Given the description of an element on the screen output the (x, y) to click on. 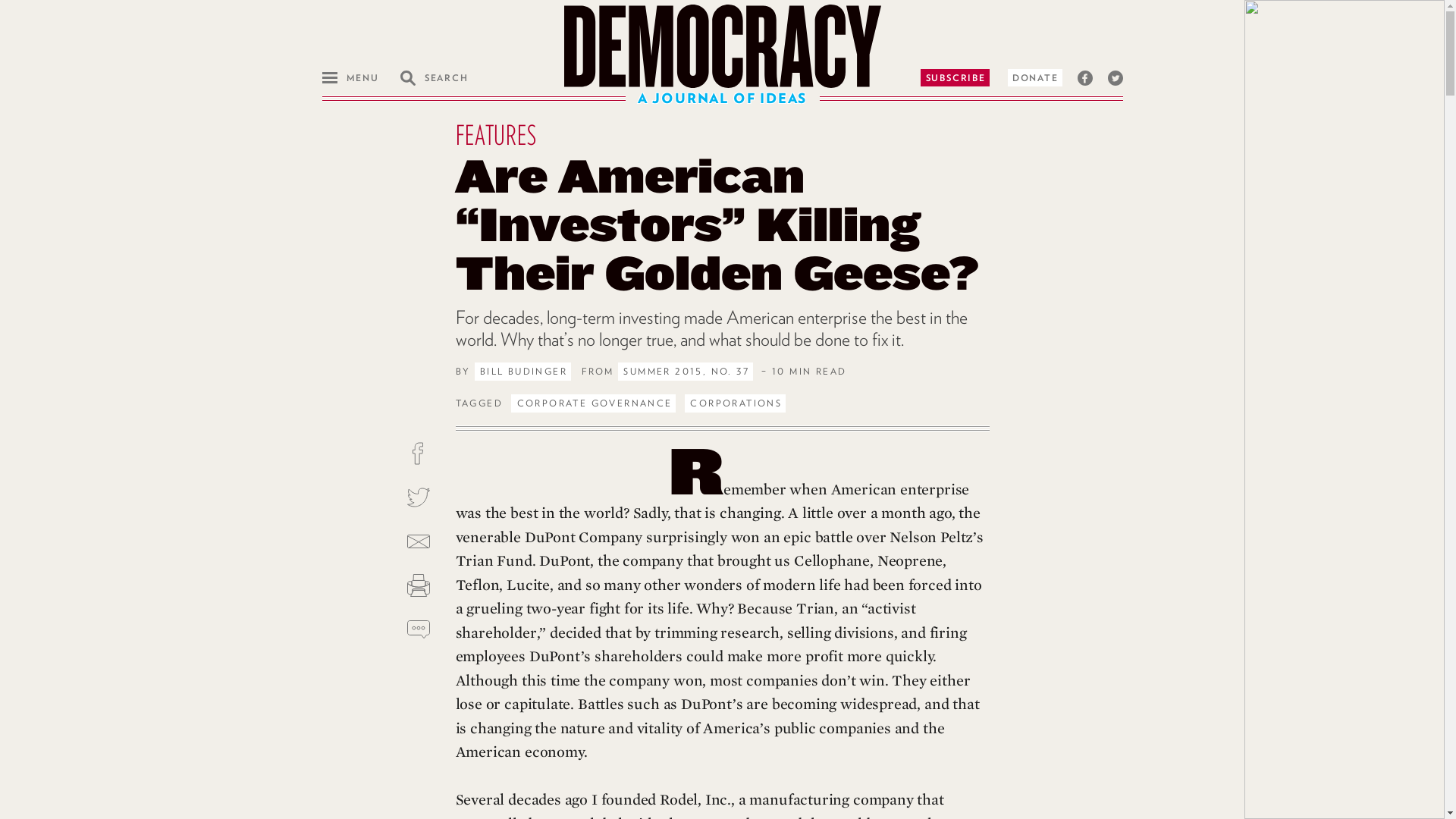
SUMMER 2015, NO. 37 (684, 371)
CORPORATIONS (735, 402)
FEATURES (494, 134)
CORPORATE GOVERNANCE (593, 402)
BILL BUDINGER (522, 371)
